Given the description of an element on the screen output the (x, y) to click on. 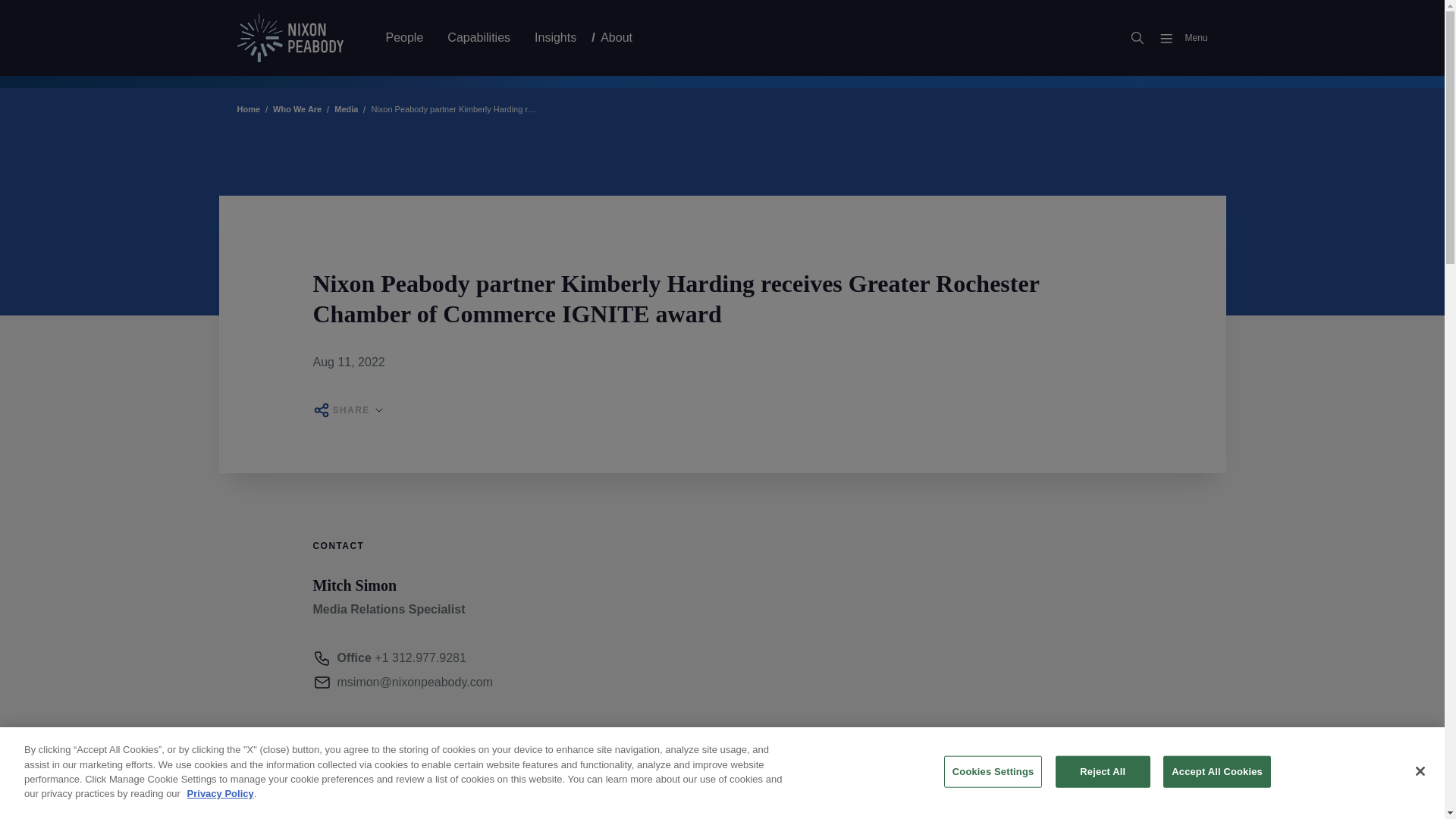
Menu (1177, 37)
About (616, 37)
Insights (555, 37)
Capabilities (478, 37)
People (403, 37)
